Given the description of an element on the screen output the (x, y) to click on. 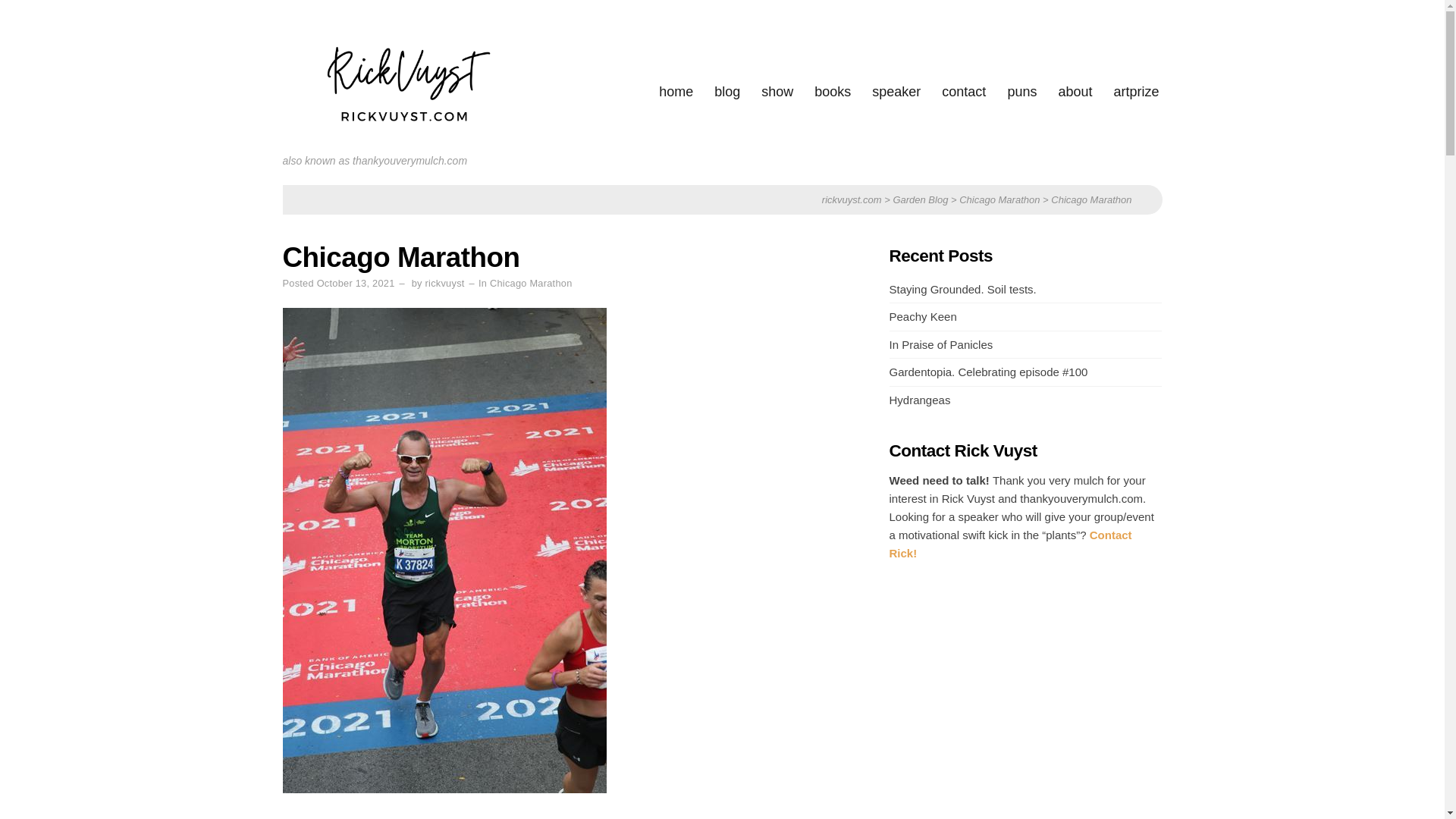
Chicago Marathon (999, 199)
Go to the Chicago Marathon Category archives. (999, 199)
artprize (1135, 92)
contact (963, 92)
speaker (896, 92)
Garden Blog (919, 199)
October 13, 2021 (355, 283)
Staying Grounded. Soil tests. (961, 288)
Go to Garden Blog. (919, 199)
Go to rickvuyst.com. (852, 199)
